Given the description of an element on the screen output the (x, y) to click on. 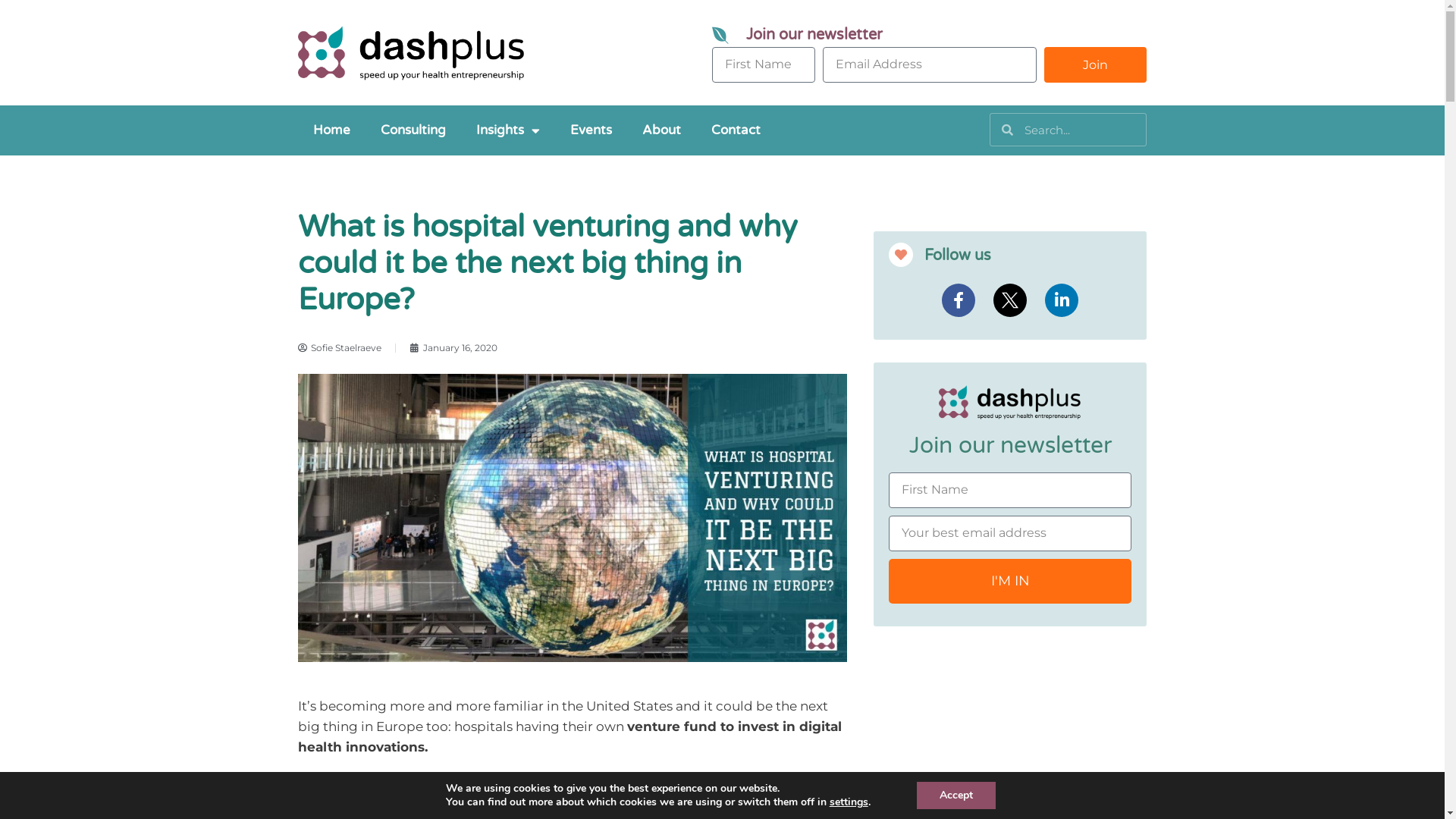
Join Element type: text (1095, 64)
Events Element type: text (591, 129)
About Element type: text (660, 129)
January 16, 2020 Element type: text (452, 347)
settings Element type: text (848, 802)
Contact Element type: text (735, 129)
I'M IN Element type: text (1009, 580)
Sofie Staelraeve Element type: text (338, 347)
Consulting Element type: text (413, 129)
Home Element type: text (330, 129)
Insights Element type: text (508, 129)
Accept Element type: text (955, 795)
